Given the description of an element on the screen output the (x, y) to click on. 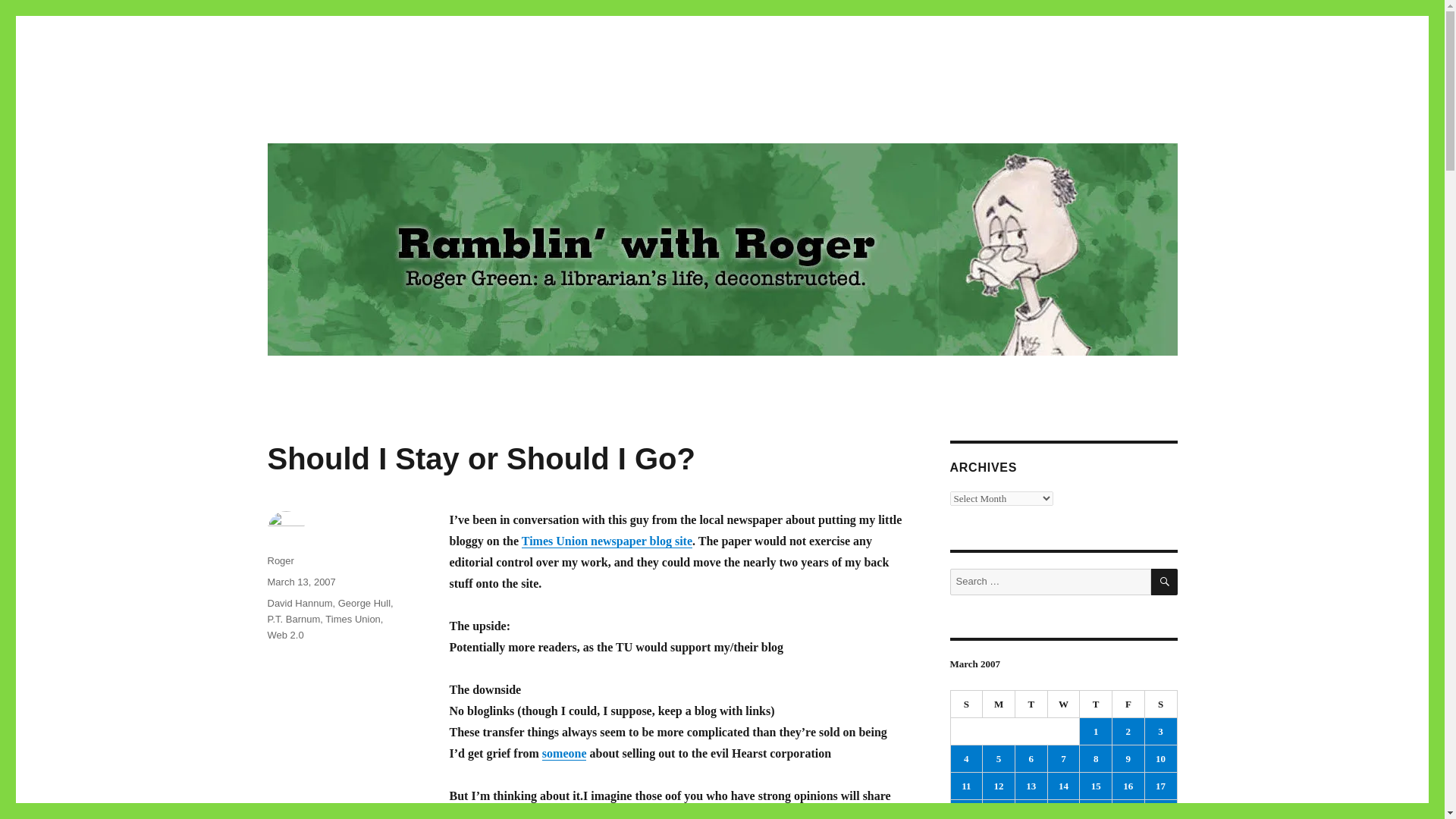
Saturday (1160, 704)
1 (1096, 731)
George Hull (363, 603)
5 (998, 758)
Sunday (967, 704)
3 (1160, 731)
SEARCH (1164, 581)
David Hannum (298, 603)
Monday (998, 704)
4 (966, 758)
someone (563, 753)
Times Union newspaper blog site (607, 540)
P.T. Barnum (293, 618)
March 13, 2007 (300, 582)
Ramblin' with Roger (368, 114)
